Given the description of an element on the screen output the (x, y) to click on. 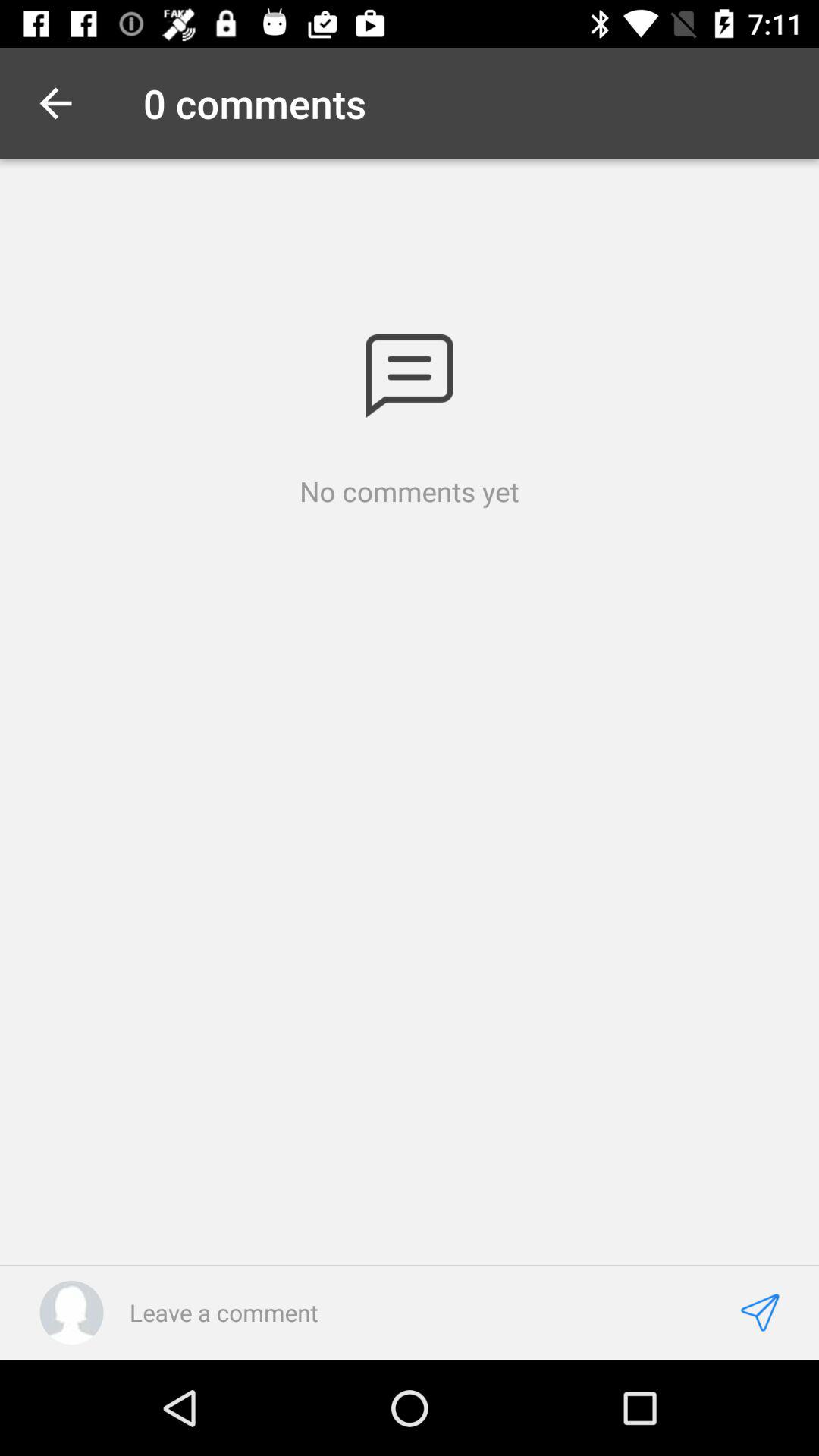
tap the item above no comments yet icon (409, 376)
